Given the description of an element on the screen output the (x, y) to click on. 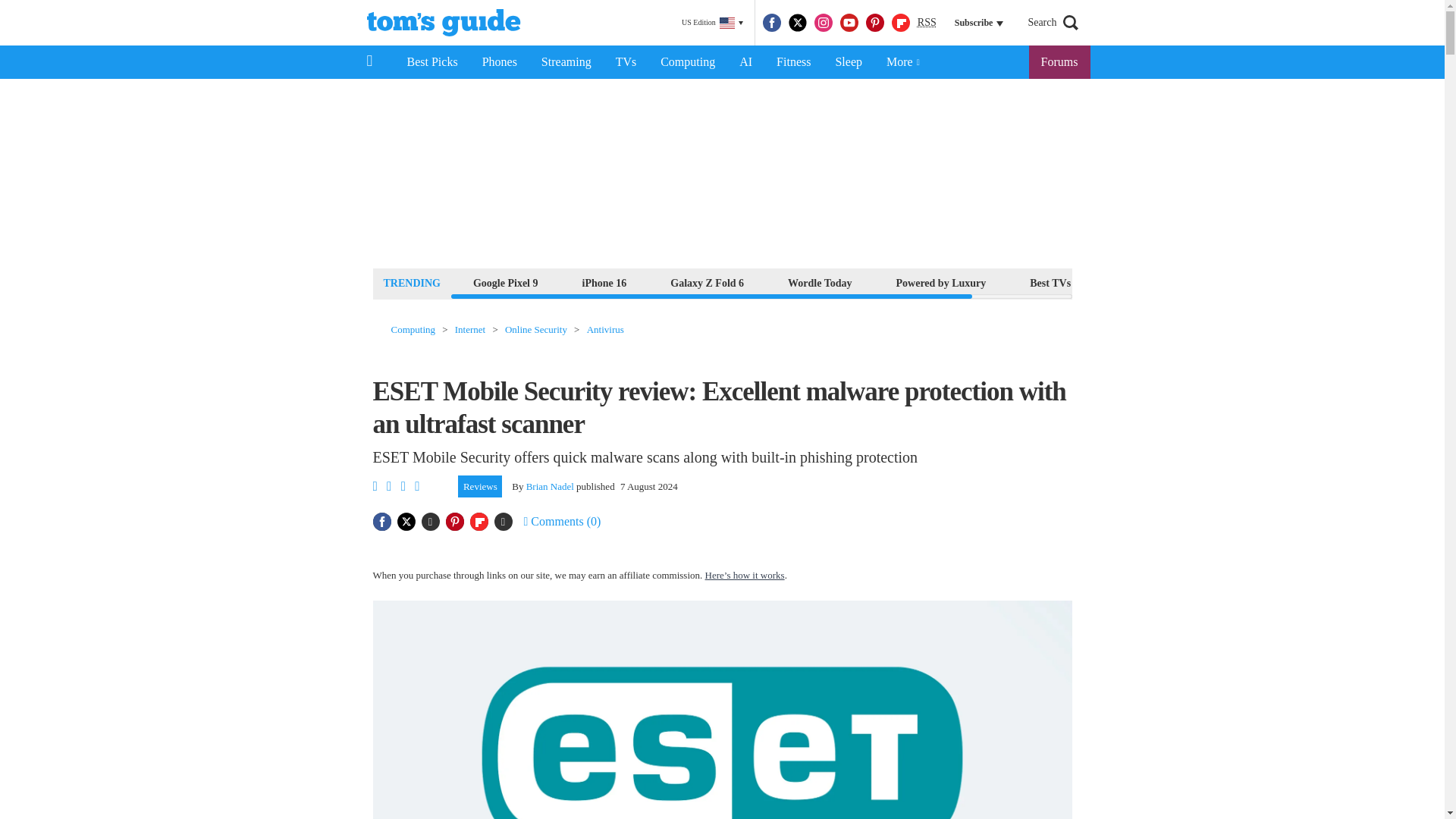
Sleep (848, 61)
Really Simple Syndication (926, 21)
RSS (926, 22)
Computing (686, 61)
US Edition (712, 22)
Best Picks (431, 61)
Streaming (566, 61)
TVs (626, 61)
AI (745, 61)
Phones (499, 61)
